Given the description of an element on the screen output the (x, y) to click on. 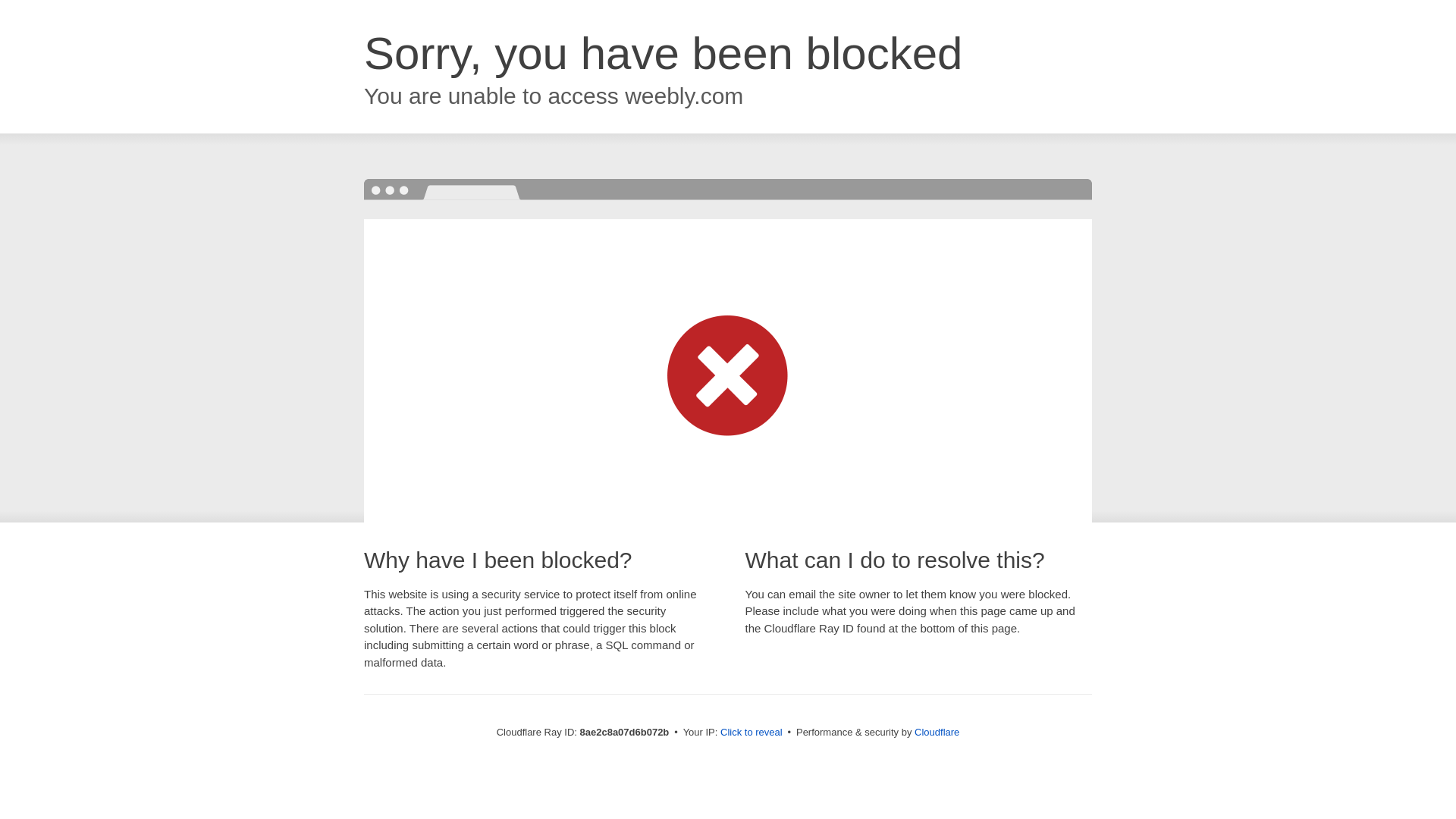
Cloudflare (936, 731)
Click to reveal (751, 732)
